Given the description of an element on the screen output the (x, y) to click on. 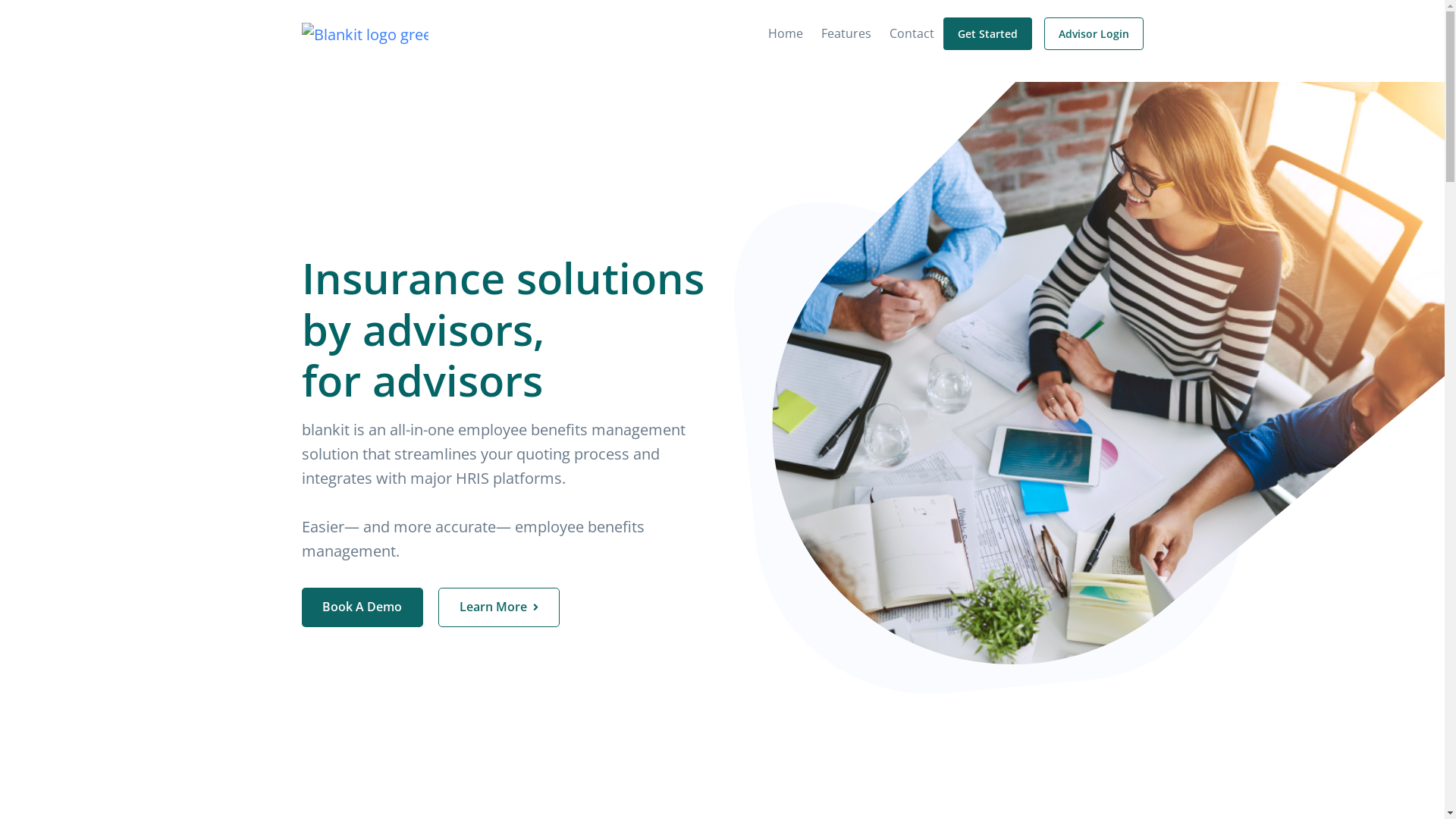
Learn More Element type: text (498, 607)
Features Element type: text (845, 34)
Advisor Login Element type: text (1092, 33)
Book A Demo Element type: text (362, 607)
Home Element type: text (789, 34)
Contact Element type: text (910, 34)
Get Started Element type: text (987, 33)
